Given the description of an element on the screen output the (x, y) to click on. 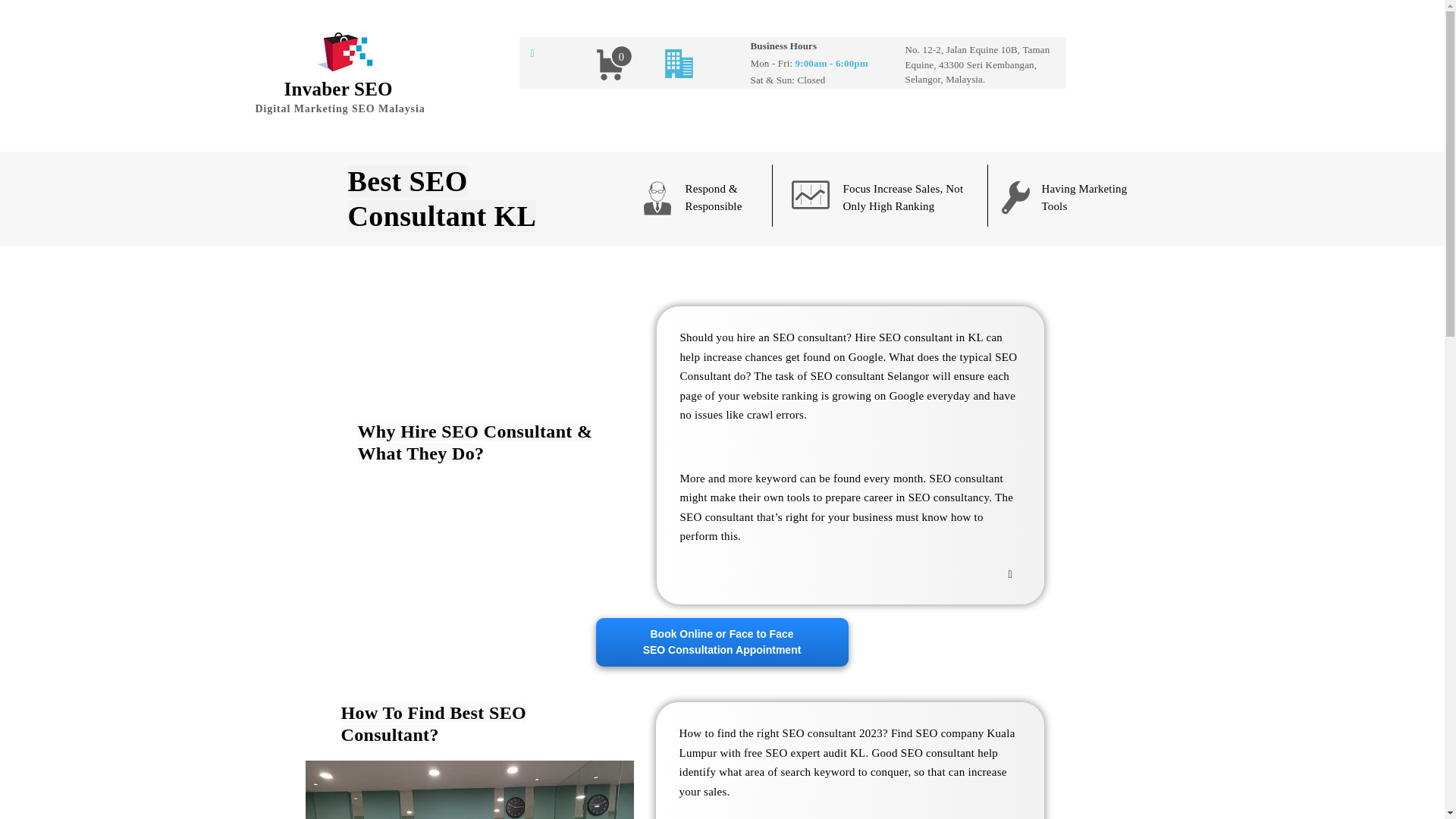
Invaber SEO (721, 642)
Digital Marketing SEO Malaysia (337, 88)
0 (339, 107)
0 (613, 63)
